Given the description of an element on the screen output the (x, y) to click on. 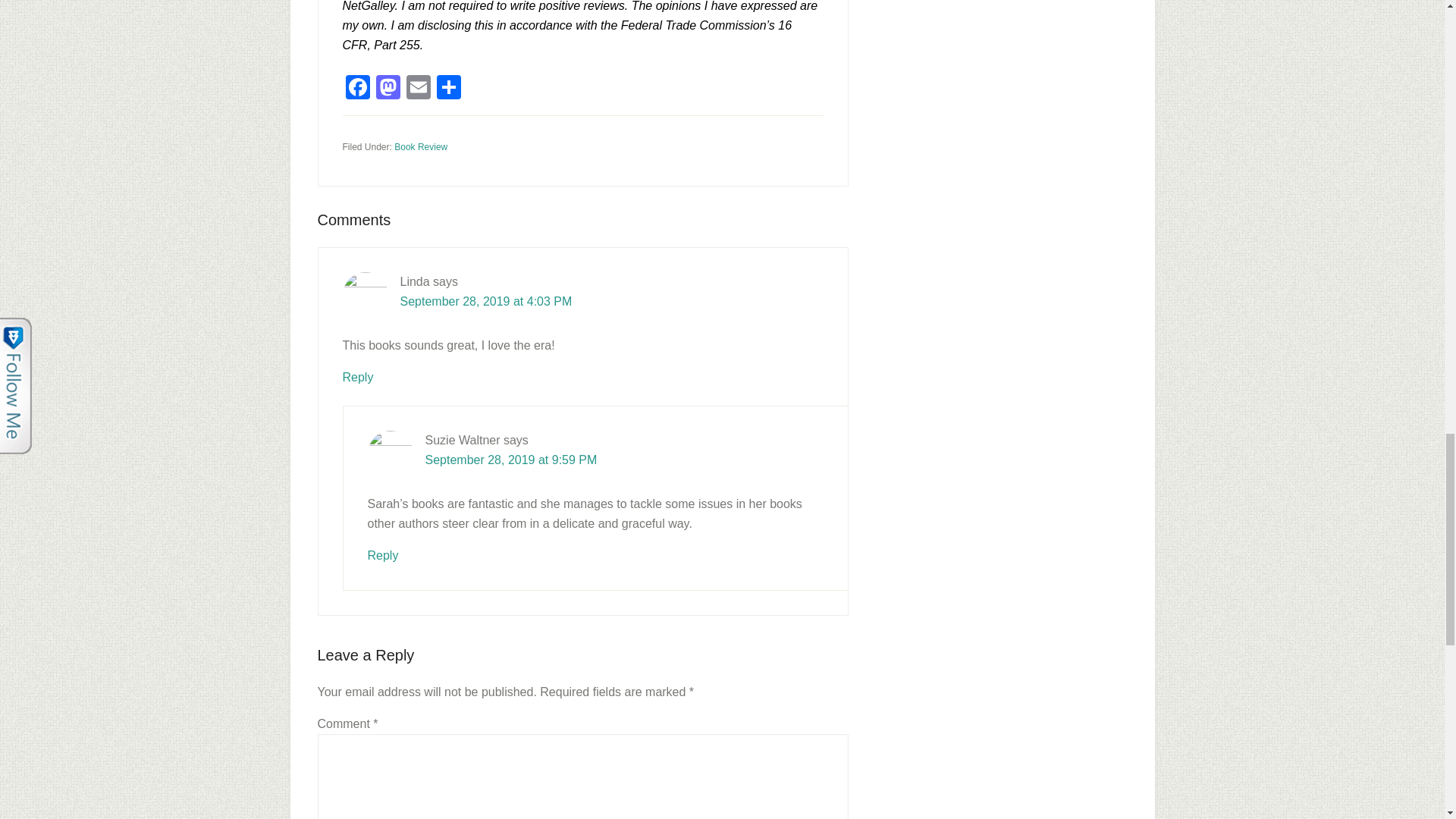
Mastodon (387, 89)
Reply (358, 377)
Email (418, 89)
Book Review (420, 146)
September 28, 2019 at 4:03 PM (486, 300)
Email (418, 89)
September 28, 2019 at 9:59 PM (510, 459)
Facebook (357, 89)
Facebook (357, 89)
Share (448, 89)
Mastodon (387, 89)
Reply (381, 554)
